Given the description of an element on the screen output the (x, y) to click on. 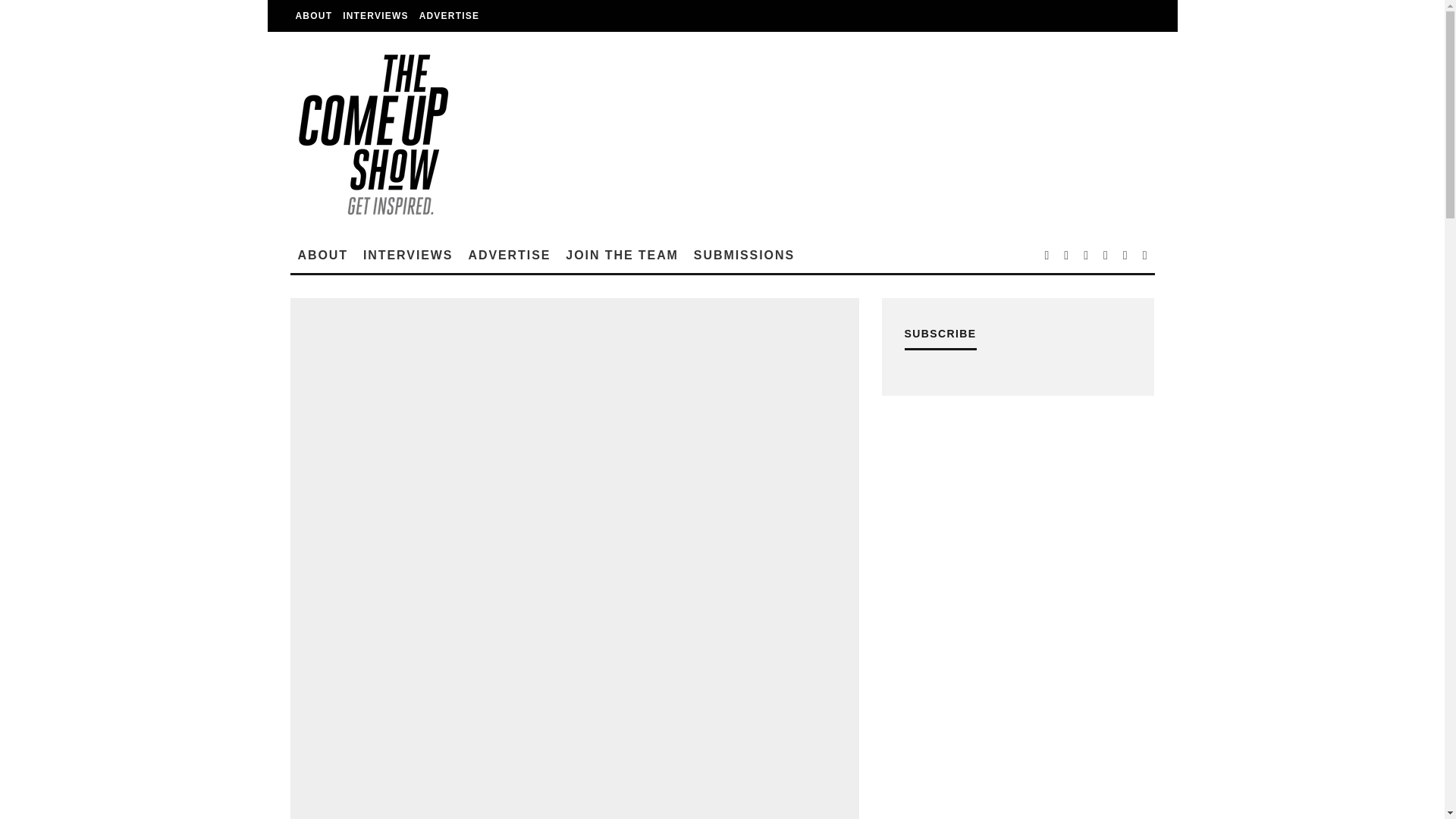
ABOUT (322, 255)
ABOUT (313, 15)
INTERVIEWS (375, 15)
ADVERTISE (508, 255)
INTERVIEWS (407, 255)
SUBMISSIONS (743, 255)
JOIN THE TEAM (621, 255)
ADVERTISE (448, 15)
